Given the description of an element on the screen output the (x, y) to click on. 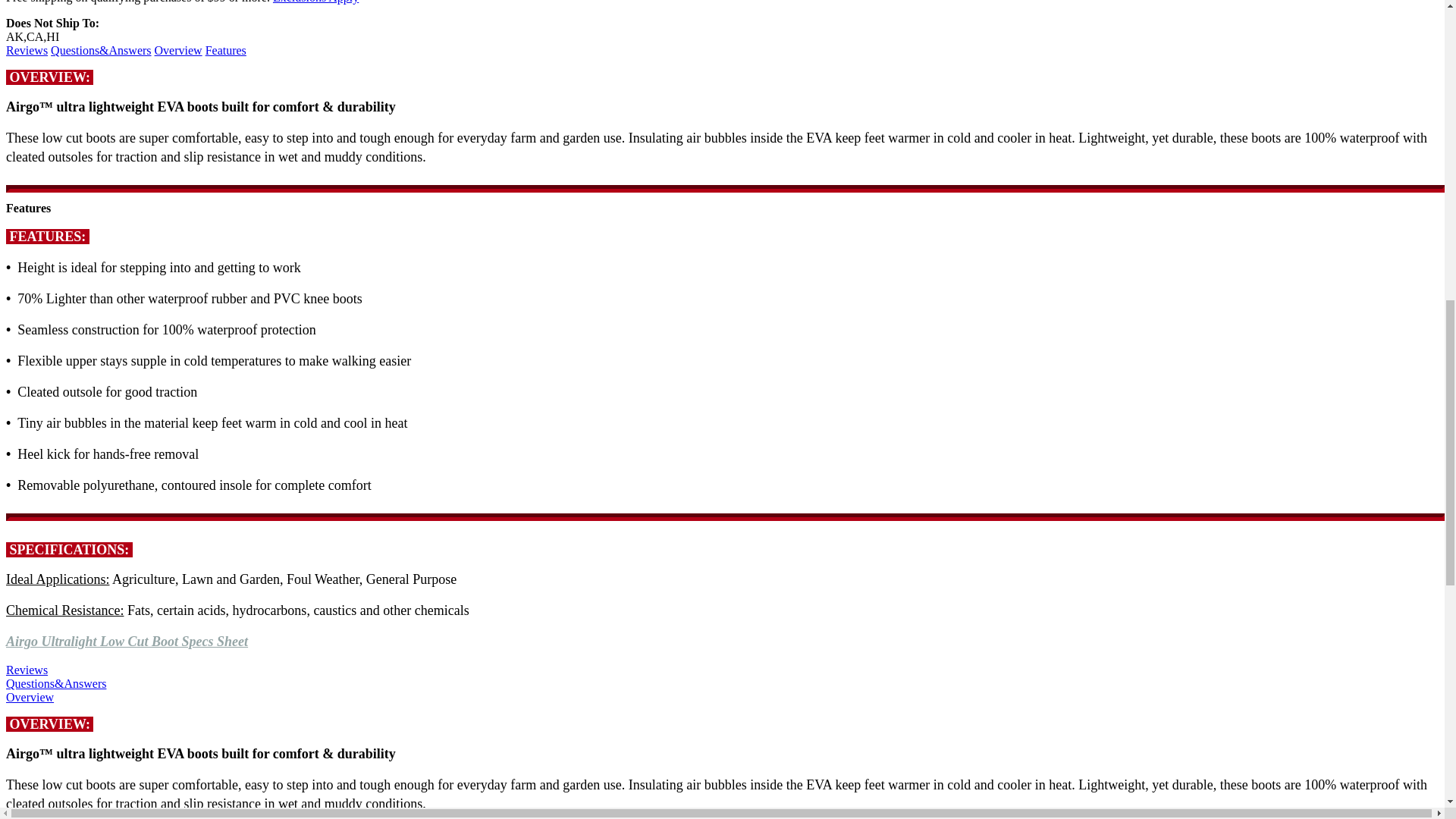
Features (225, 50)
Overview (178, 50)
Reviews (26, 50)
